Given the description of an element on the screen output the (x, y) to click on. 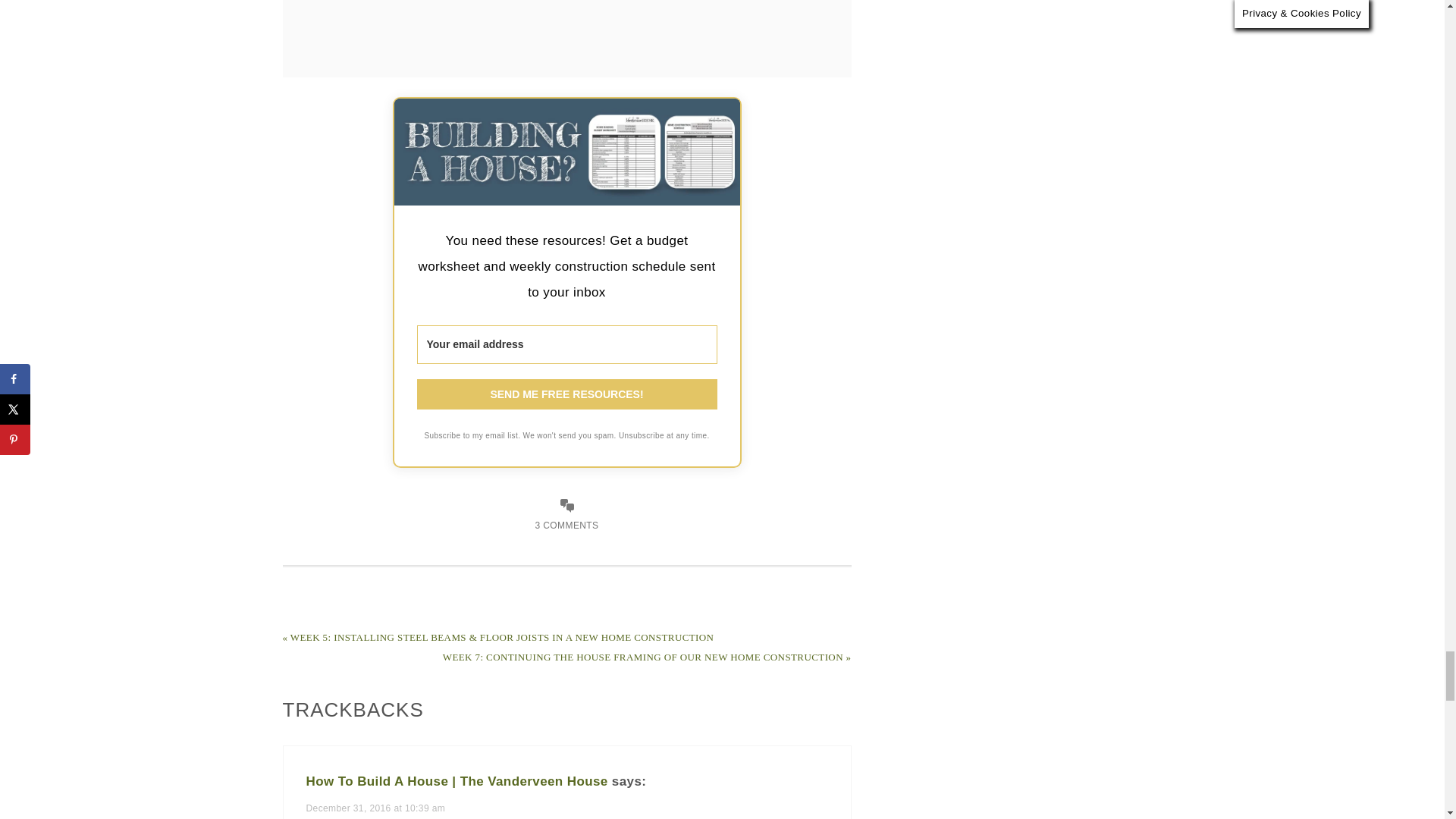
3 COMMENTS (566, 525)
December 31, 2016 at 10:39 am (375, 808)
SEND ME FREE RESOURCES! (566, 394)
